Given the description of an element on the screen output the (x, y) to click on. 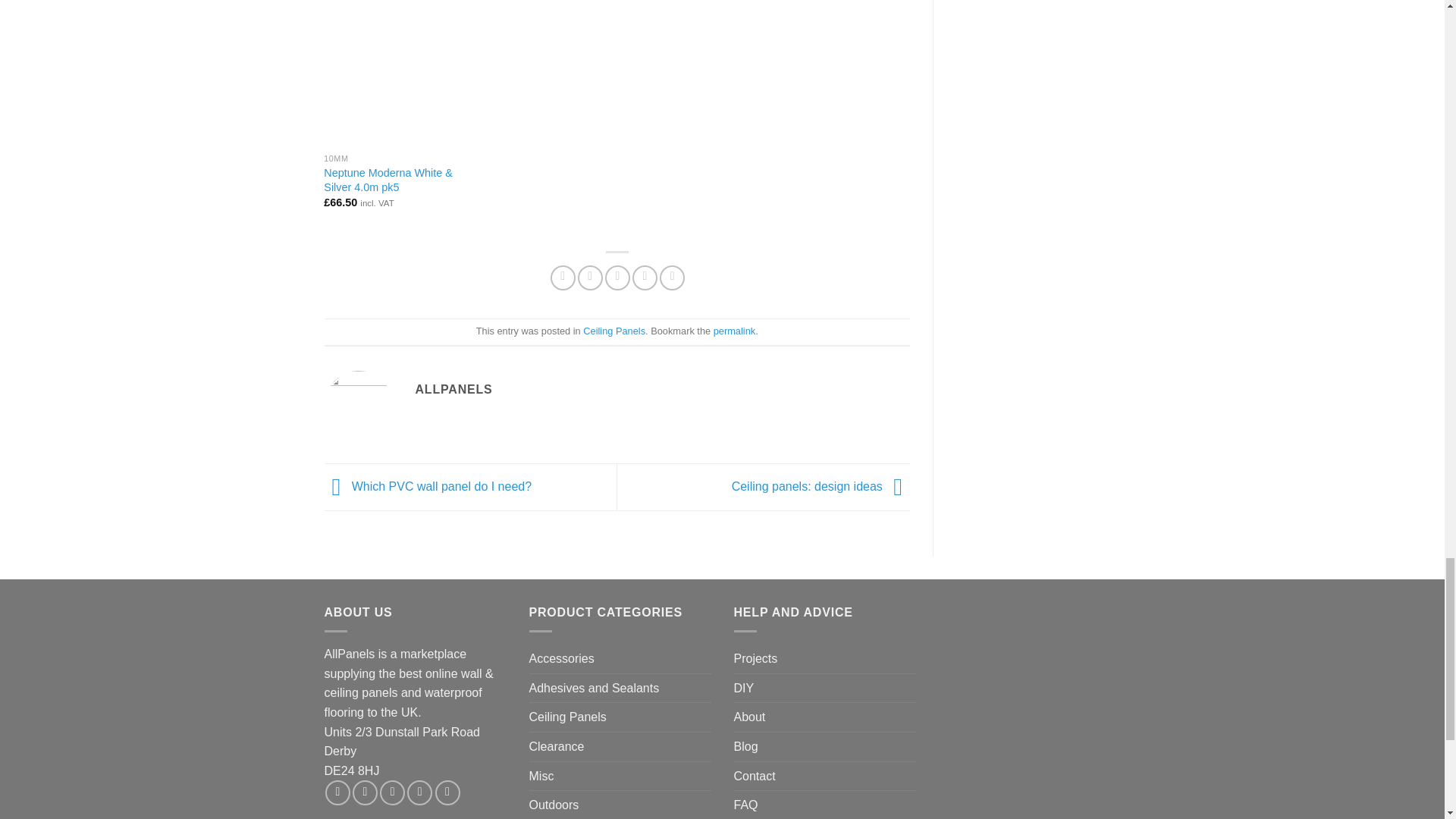
Pin on Pinterest (644, 277)
Email to a Friend (617, 277)
Share on Facebook (562, 277)
Share on Twitter (590, 277)
